Given the description of an element on the screen output the (x, y) to click on. 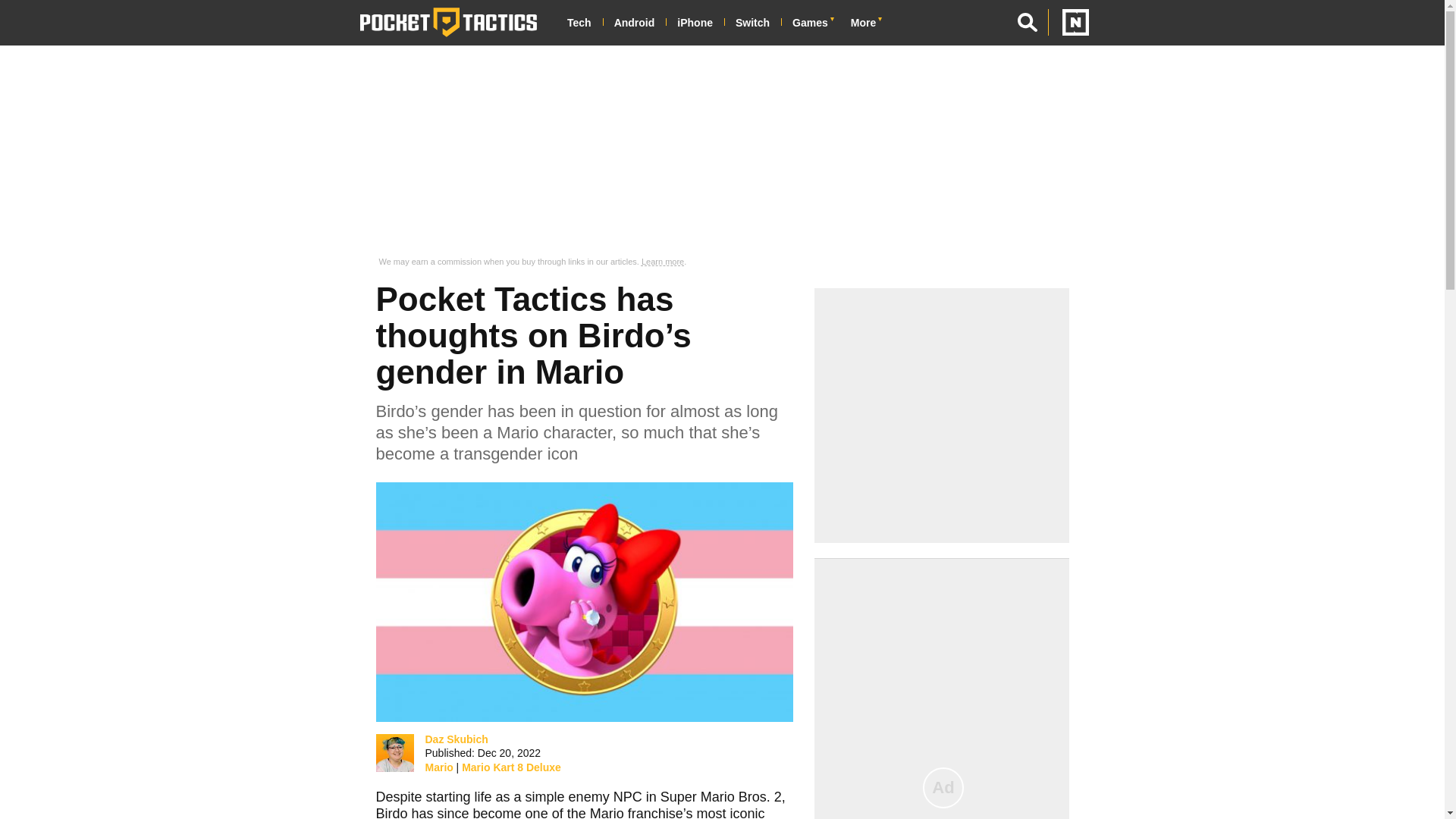
Mario (438, 767)
Daz Skubich (456, 739)
Learn more (663, 261)
iPhone (700, 22)
Android (640, 22)
Mario Kart 8 Deluxe (510, 767)
Switch (757, 22)
Network N Media (1068, 22)
Games (816, 22)
Daz Skubich (394, 752)
Pocket Tactics (448, 22)
